Given the description of an element on the screen output the (x, y) to click on. 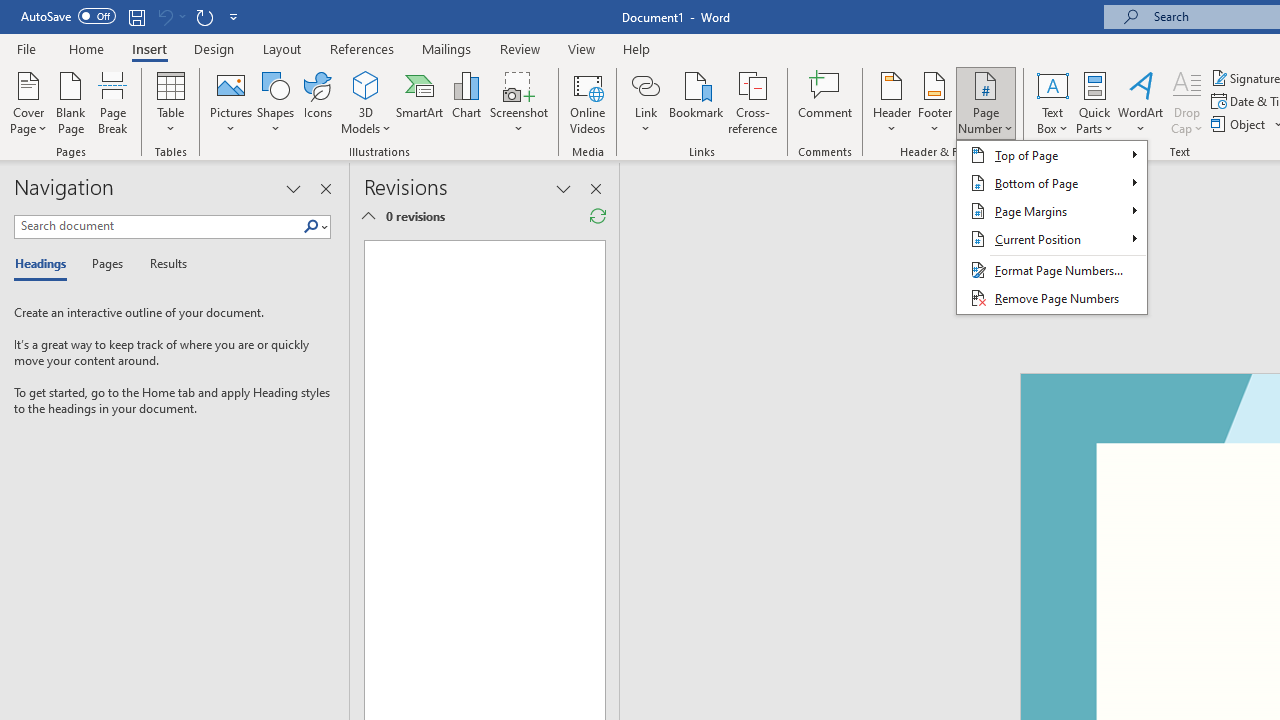
Chart... (466, 102)
Object... (1240, 124)
Page Break (113, 102)
Table (170, 102)
Show Detailed Summary (368, 215)
Header (891, 102)
Can't Undo (164, 15)
WordArt (1141, 102)
3D Models (366, 84)
Text Box (1052, 102)
